Given the description of an element on the screen output the (x, y) to click on. 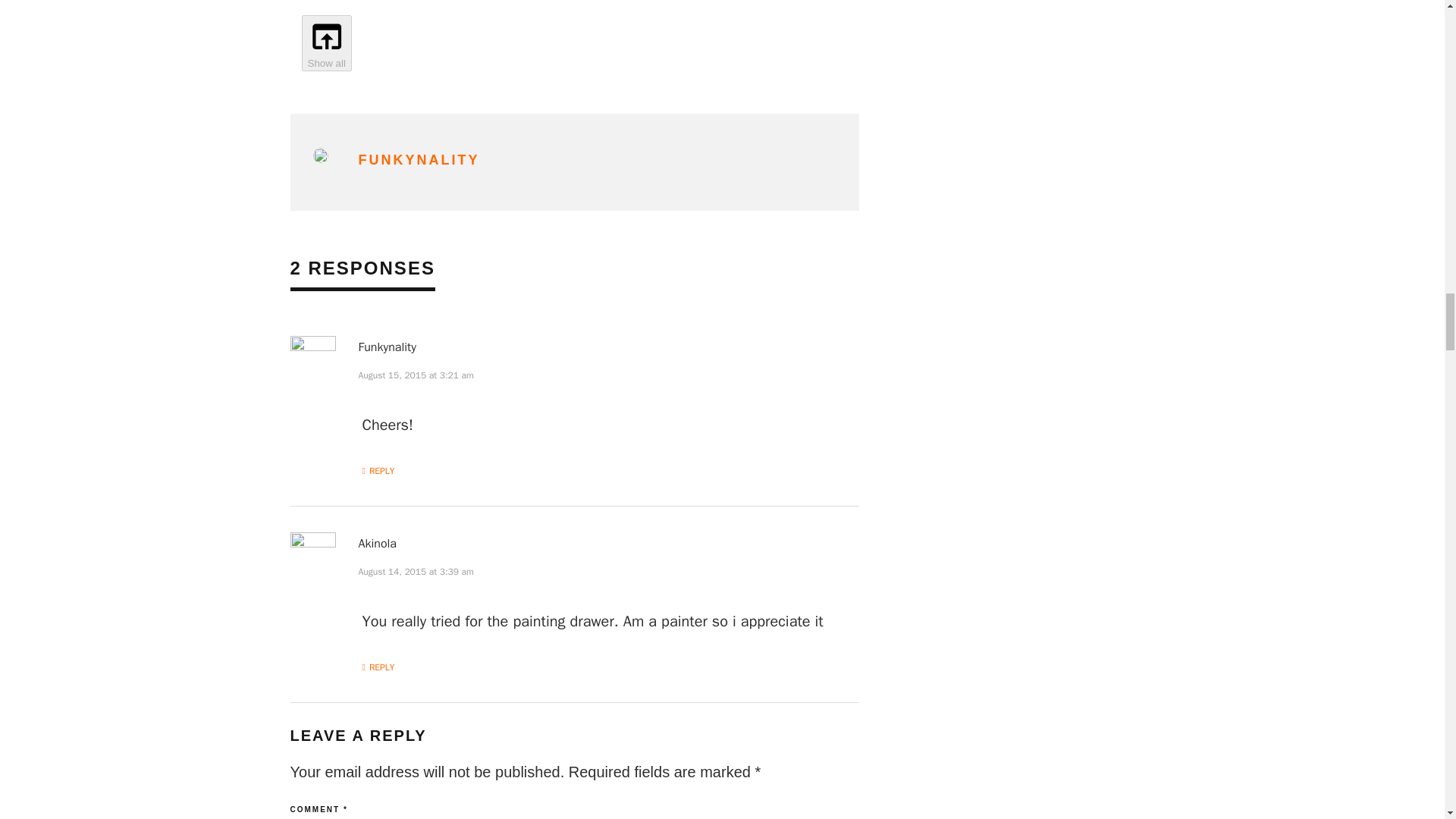
FUNKYNALITY (418, 159)
